Given the description of an element on the screen output the (x, y) to click on. 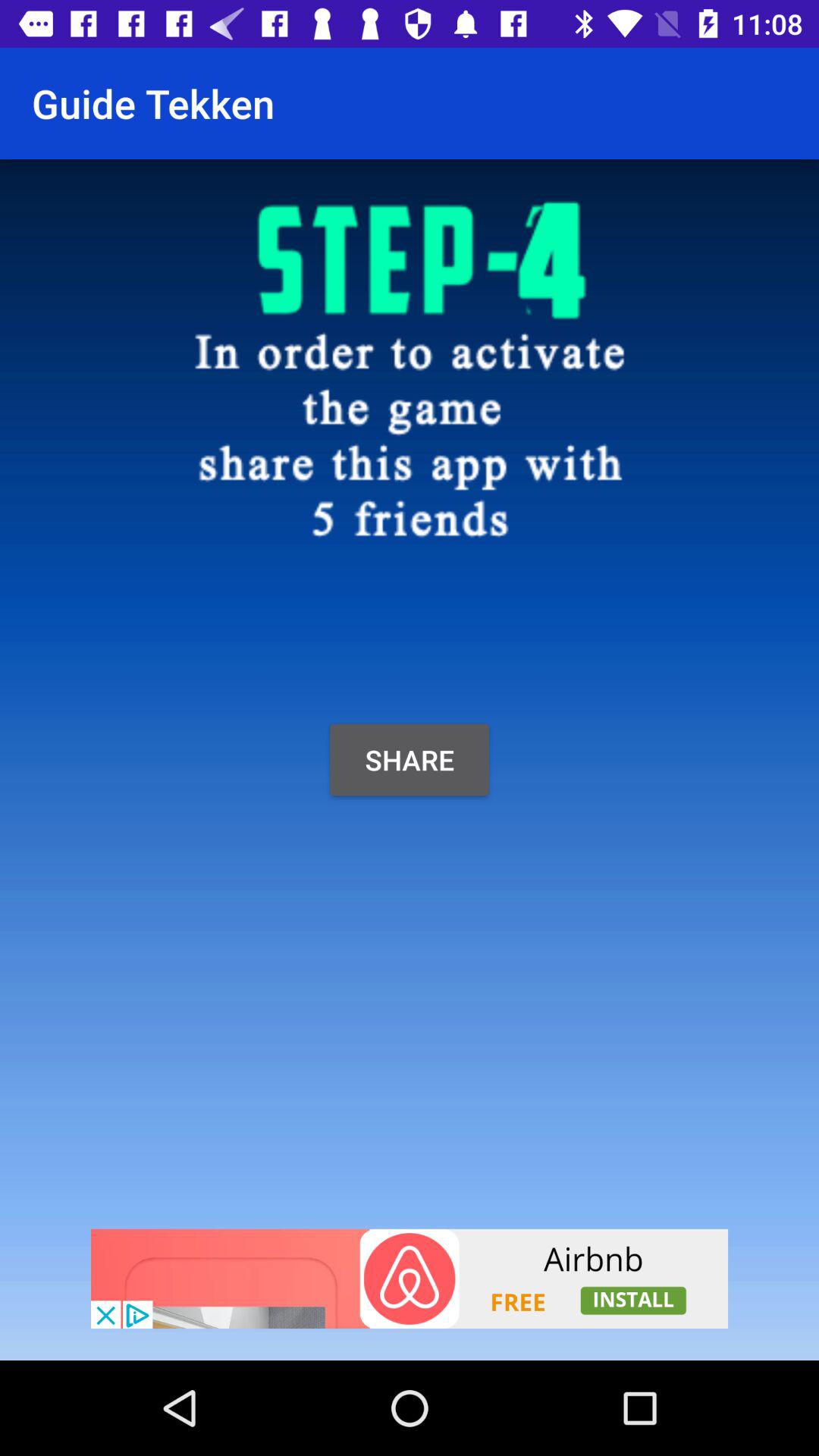
click advertisement (409, 1278)
